Given the description of an element on the screen output the (x, y) to click on. 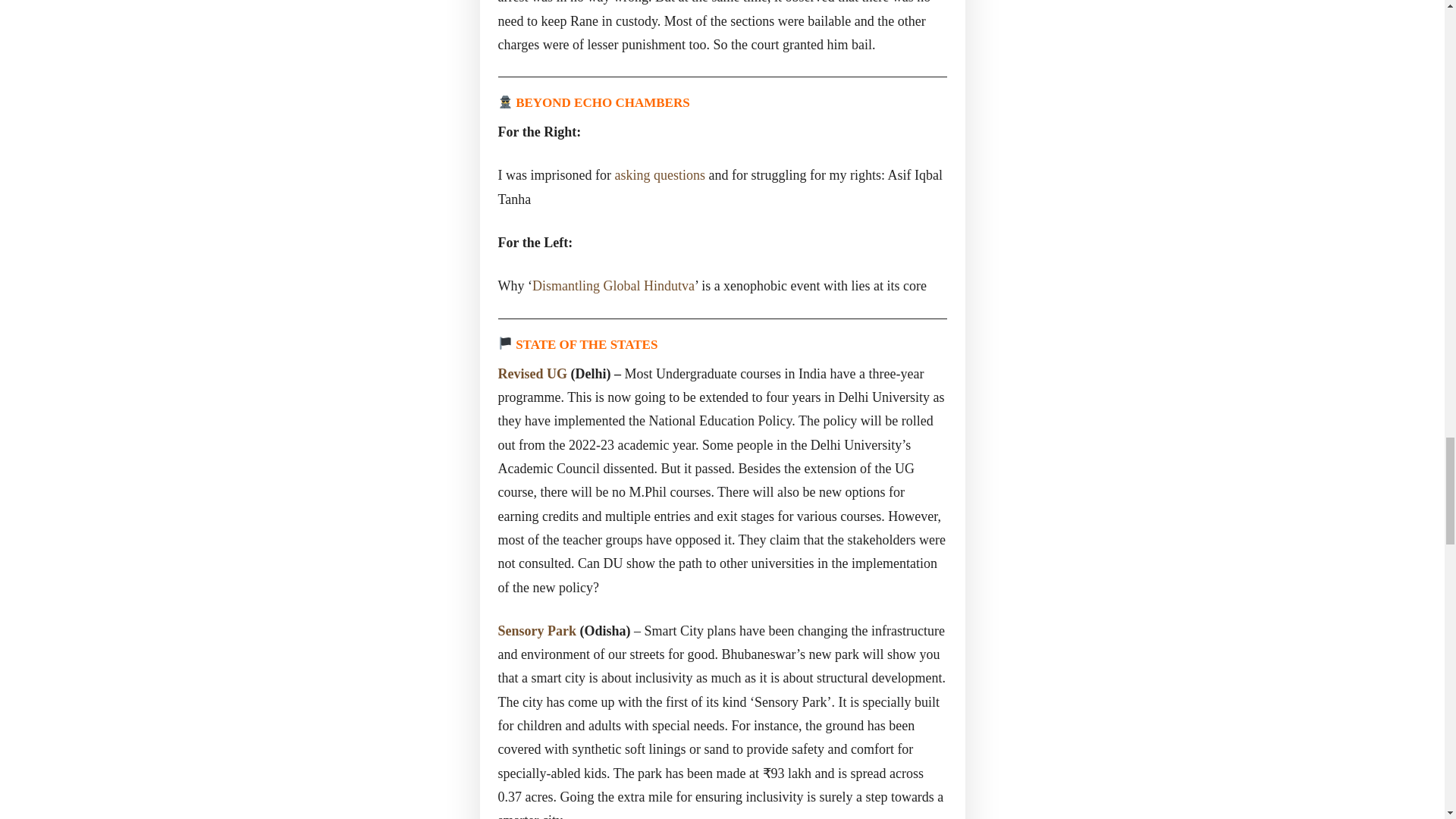
Revised UG (532, 373)
Dismantling Global Hindutva (613, 285)
Sensory Park (536, 630)
asking questions (659, 174)
